Given the description of an element on the screen output the (x, y) to click on. 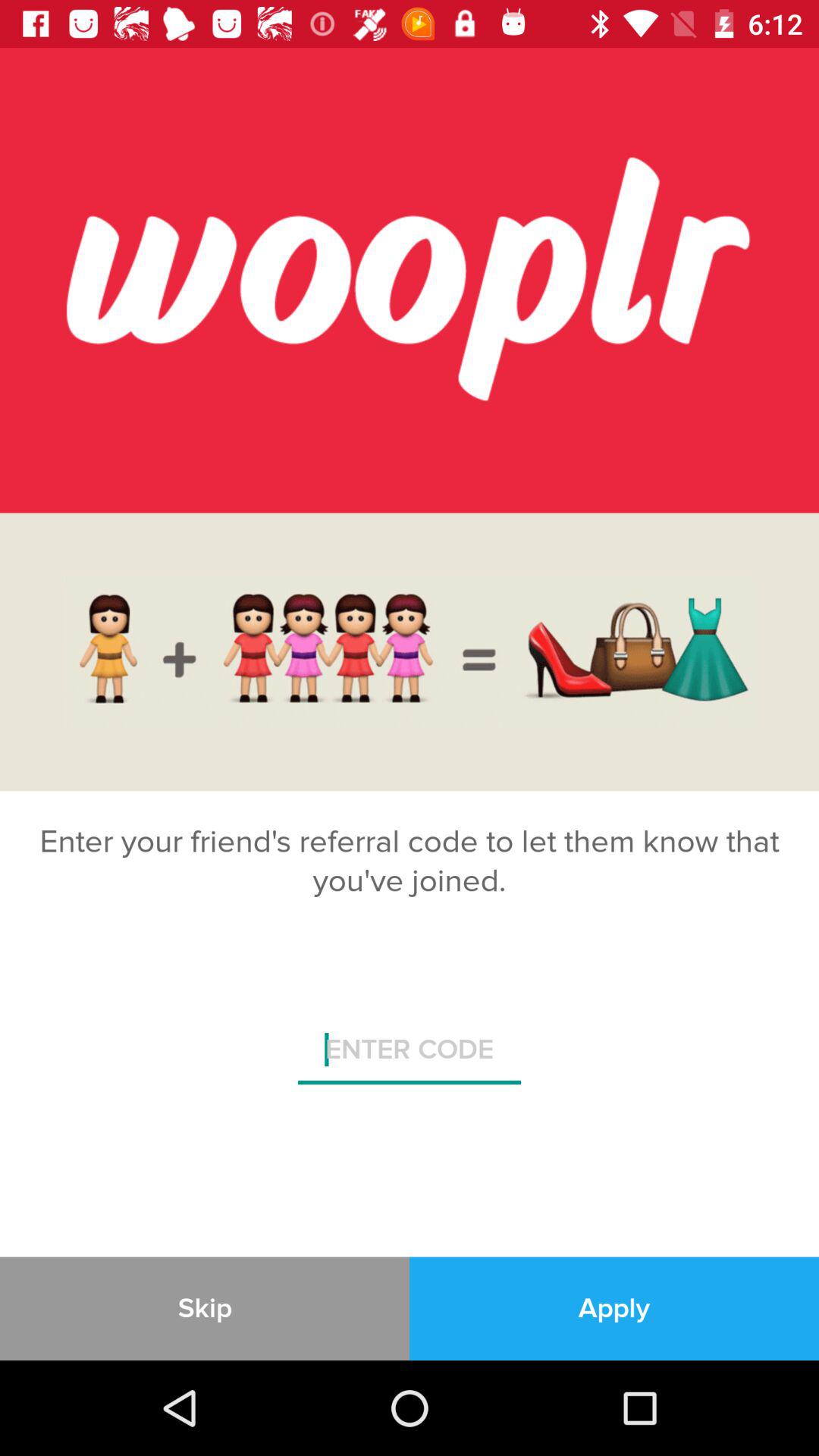
type code (409, 1055)
